Given the description of an element on the screen output the (x, y) to click on. 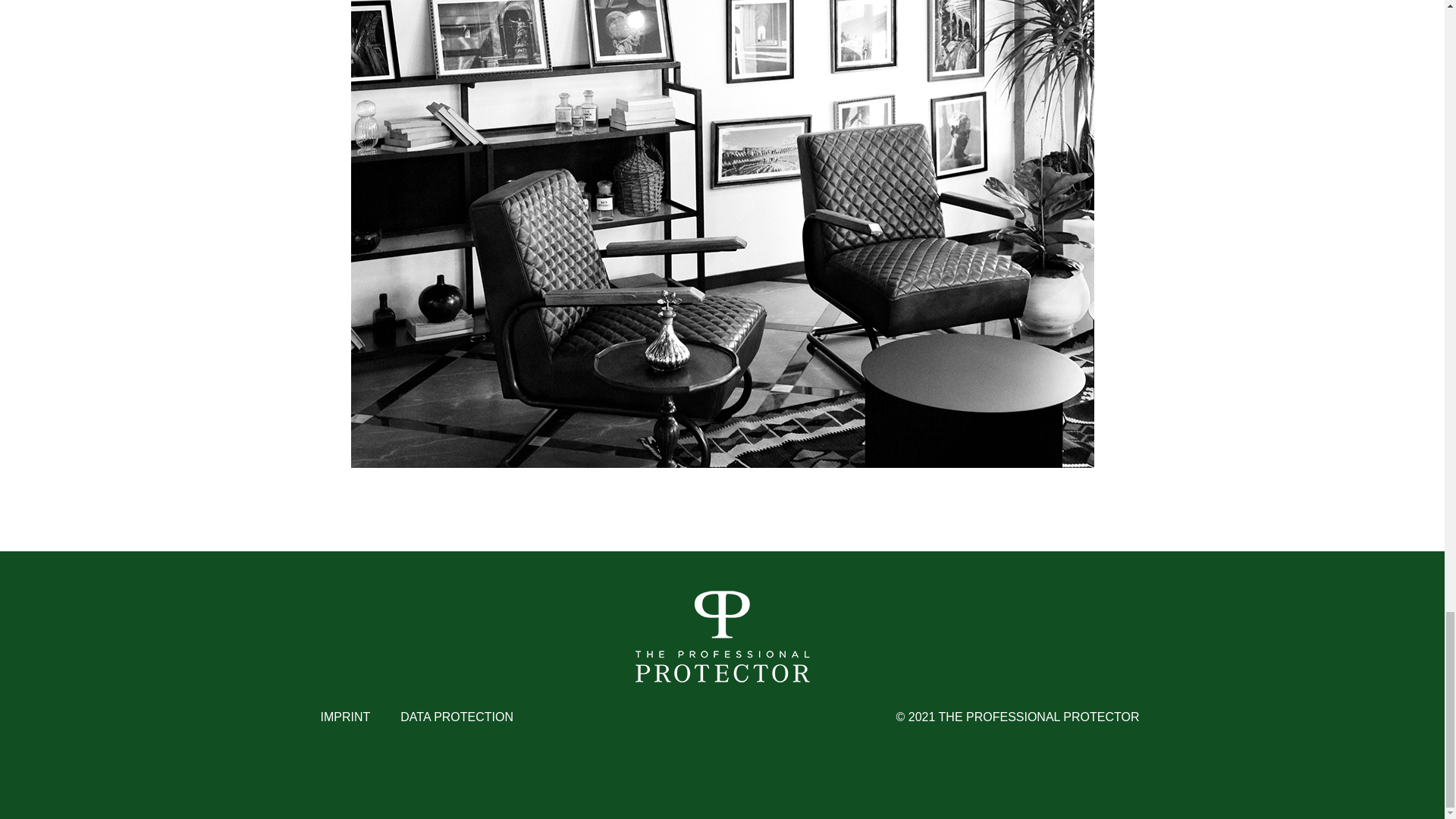
IMPRINT (344, 717)
Data protection Professional Protector (456, 717)
Imprint Professional Protector (344, 717)
DATA PROTECTION (456, 717)
